Given the description of an element on the screen output the (x, y) to click on. 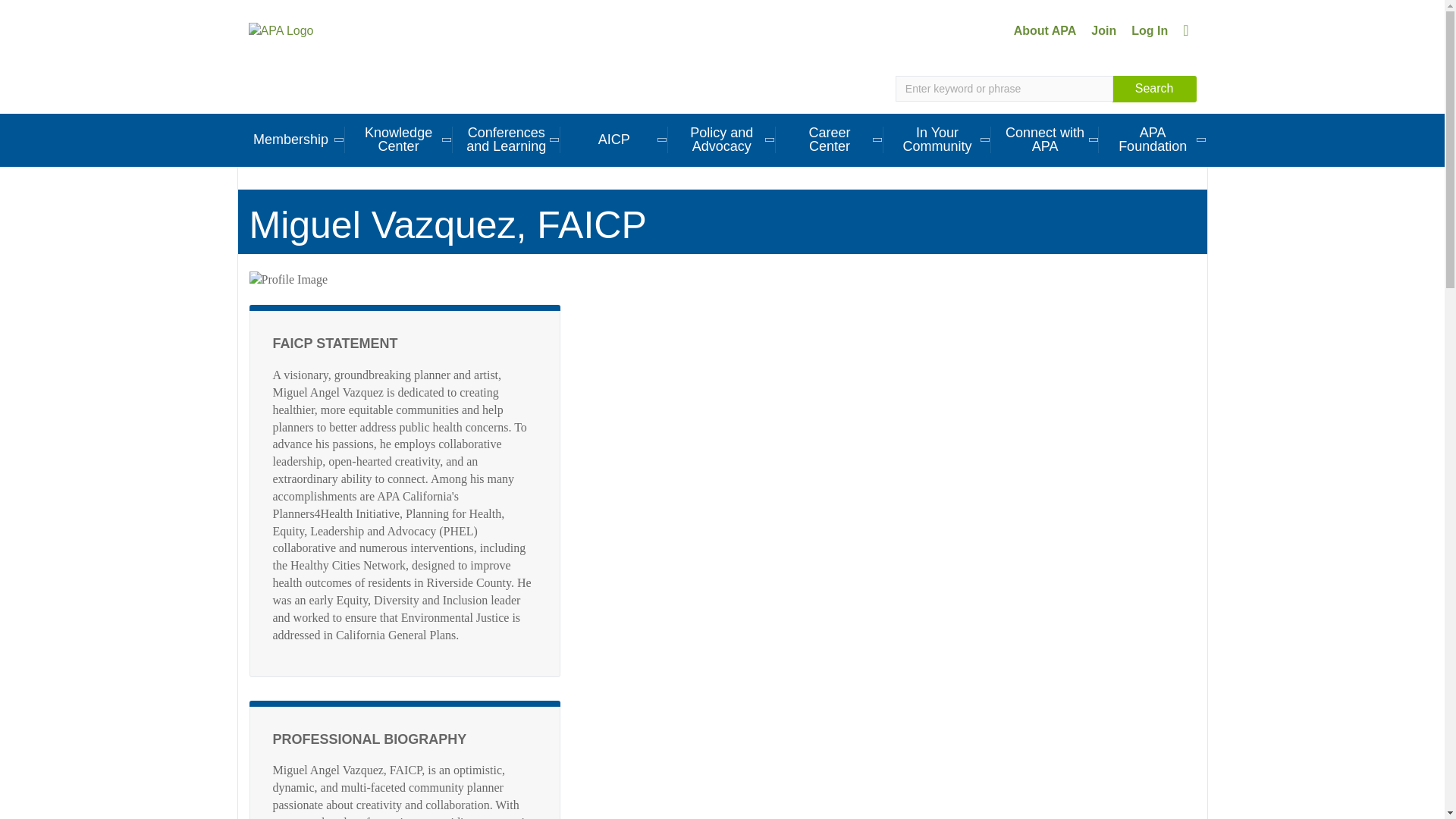
Policy and Advocacy (722, 139)
Knowledge Center (398, 139)
Join (1103, 30)
Membership (289, 139)
Log In (1149, 30)
Career Center (829, 139)
Join (1103, 30)
Connect with APA (1045, 139)
Log In (1149, 30)
About APA (1045, 30)
